Given the description of an element on the screen output the (x, y) to click on. 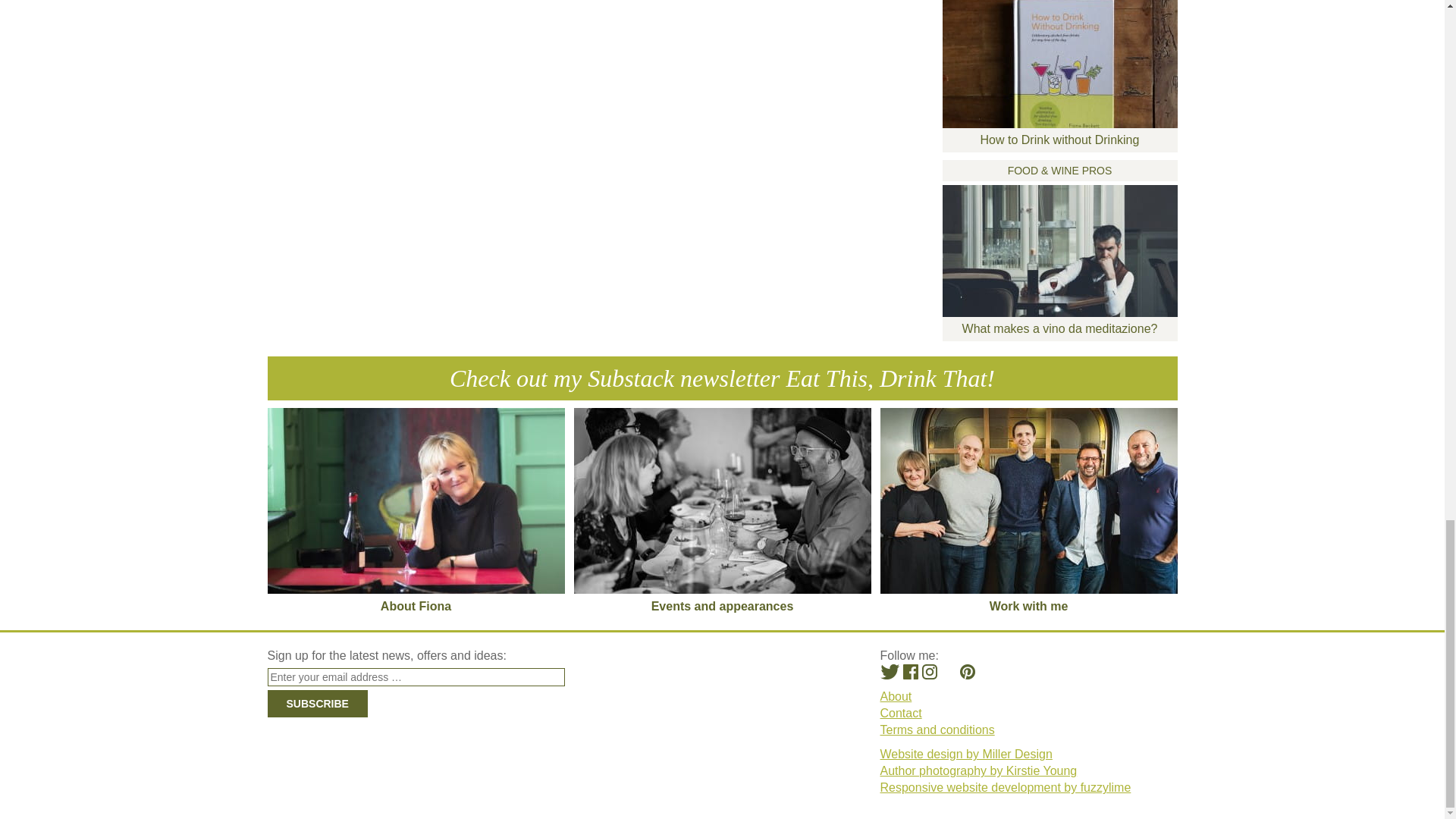
Subscribe (316, 703)
